Given the description of an element on the screen output the (x, y) to click on. 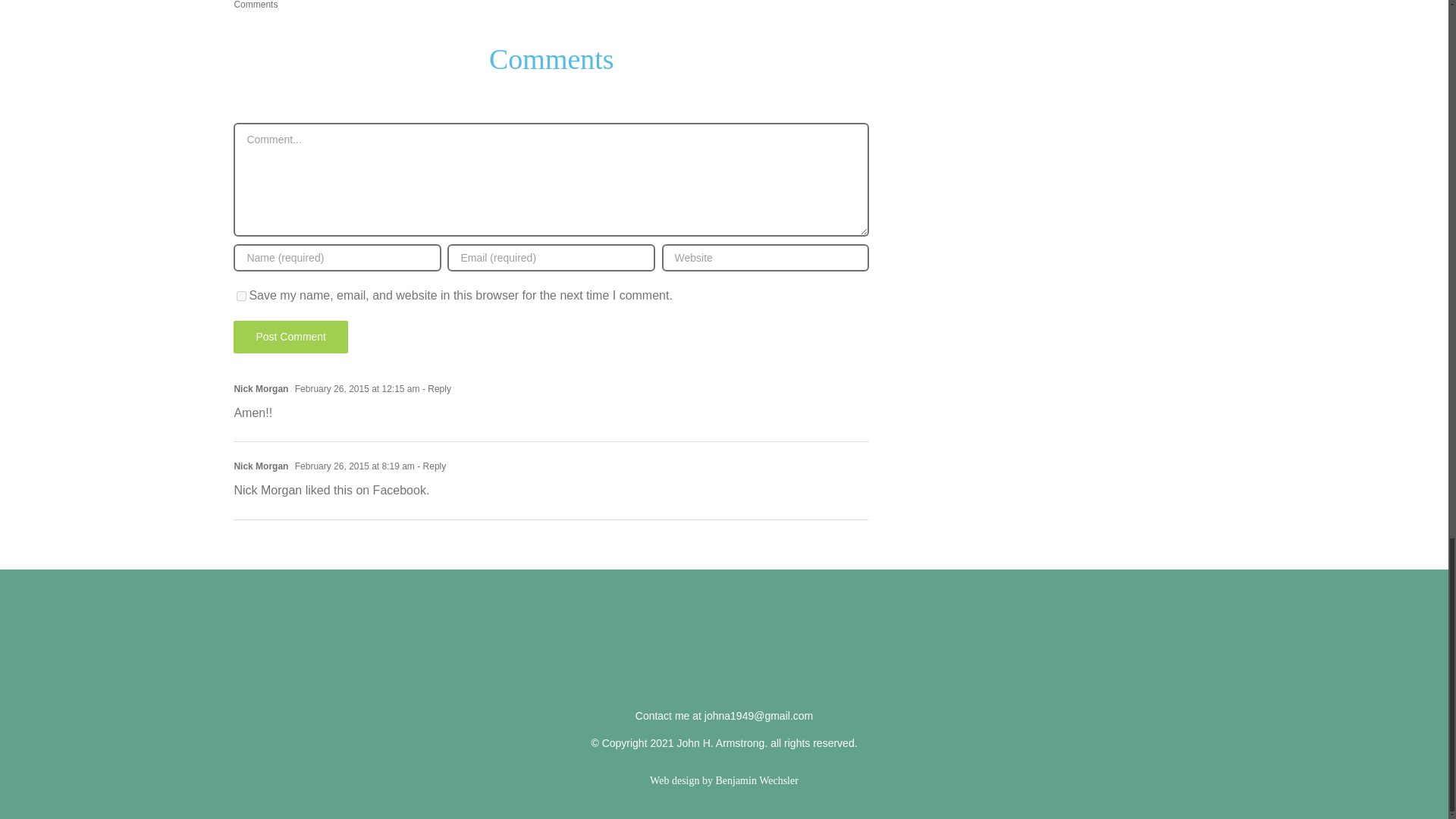
yes (240, 296)
0 Comments (279, 4)
Nick Morgan (266, 490)
Nick Morgan (260, 466)
Post Comment (289, 336)
- Reply (435, 388)
- Reply (429, 466)
Nick Morgan (260, 388)
